Given the description of an element on the screen output the (x, y) to click on. 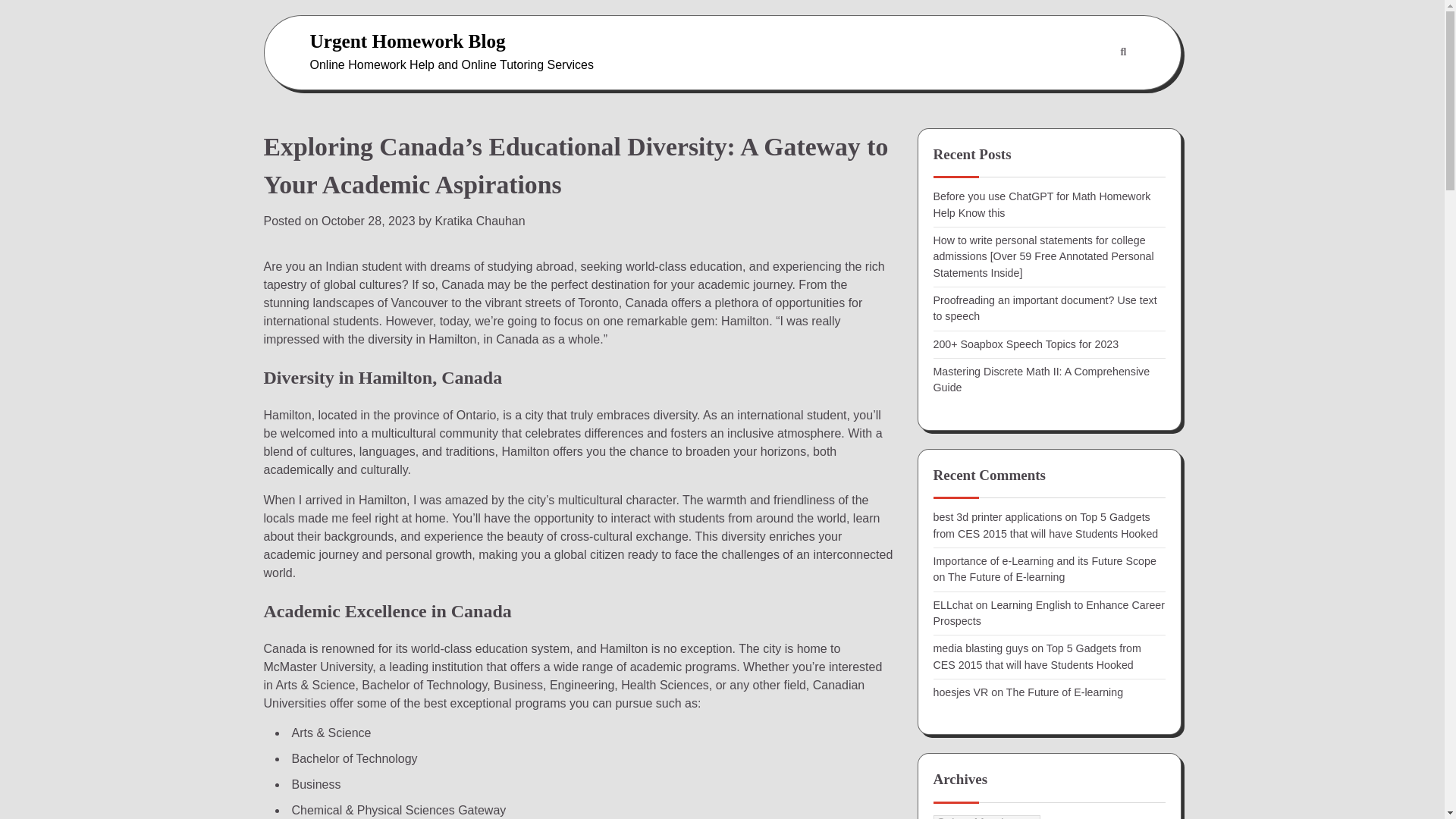
Kratika Chauhan (478, 220)
Top 5 Gadgets from CES 2015 that will have Students Hooked (1045, 524)
Proofreading an important document? Use text to speech (1044, 308)
Search (1086, 88)
Before you use ChatGPT for Math Homework Help Know this (1041, 204)
October 28, 2023 (367, 220)
Urgent Homework Blog (406, 40)
The Future of E-learning (1064, 692)
Importance of e-Learning and its Future Scope (1044, 561)
Learning English to Enhance Career Prospects (1048, 612)
Top 5 Gadgets from CES 2015 that will have Students Hooked (1036, 656)
Search (1123, 51)
ELLchat (952, 604)
Mastering Discrete Math II: A Comprehensive Guide (1041, 379)
The Future of E-learning (1005, 576)
